Given the description of an element on the screen output the (x, y) to click on. 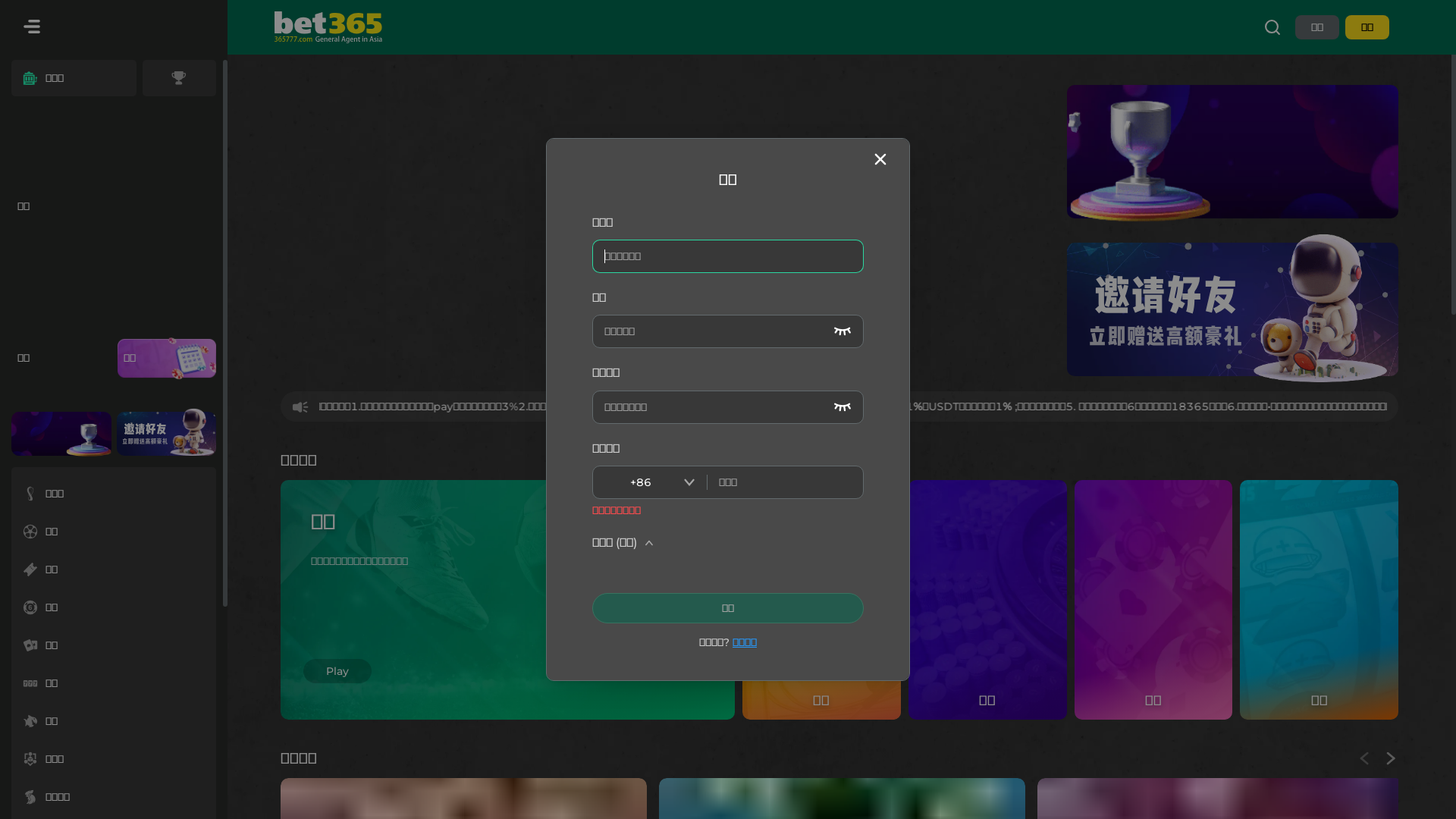
Play Element type: text (337, 670)
